Given the description of an element on the screen output the (x, y) to click on. 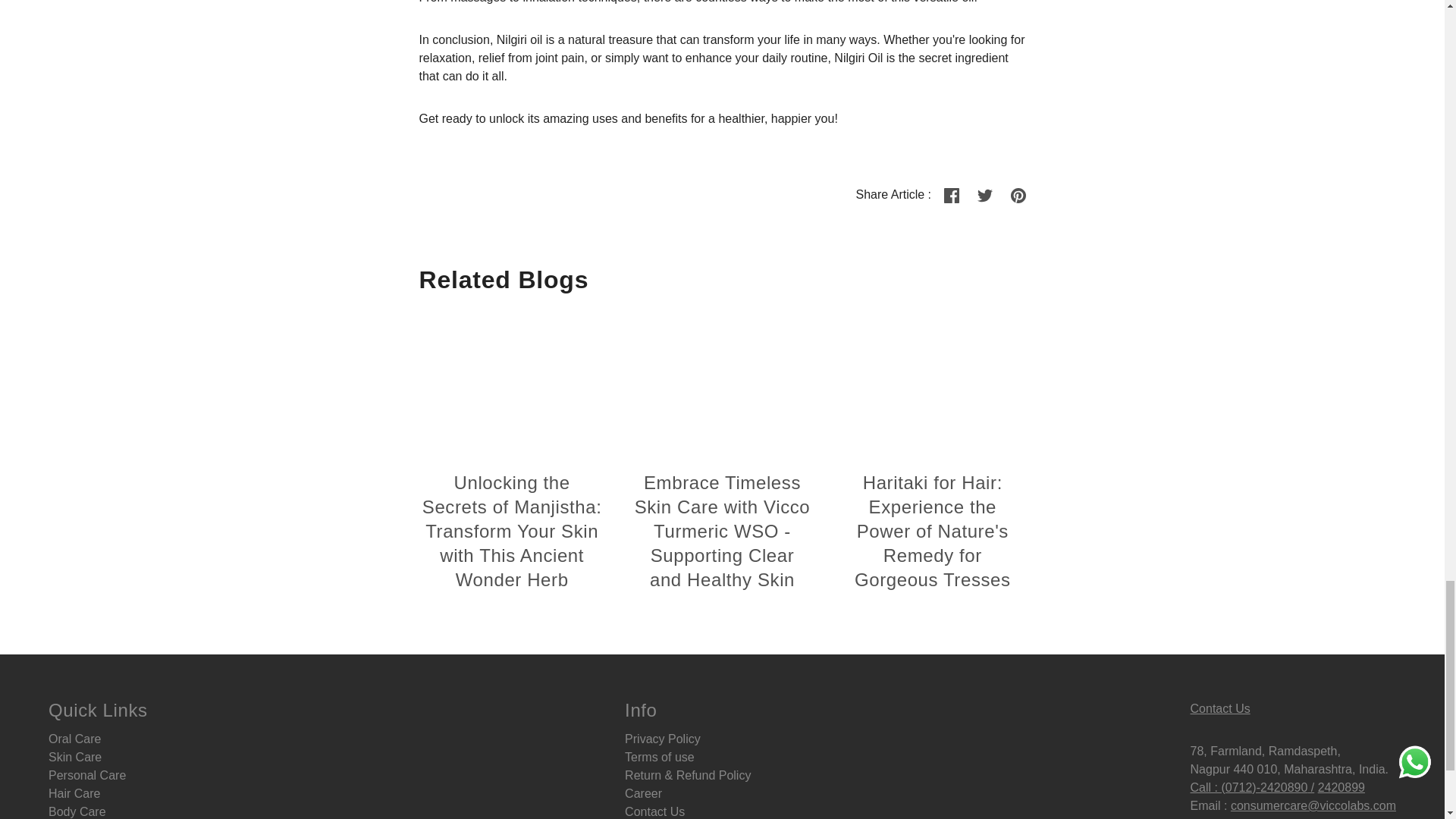
Personal Care (86, 775)
Skin Care (74, 757)
Hair Care (74, 793)
Skin Care (74, 757)
Oral Care (74, 738)
tel:917122420890 (1225, 787)
Personal Care (86, 775)
Oral Care (74, 738)
Privacy Policy (662, 738)
Contact us (1220, 707)
